Given the description of an element on the screen output the (x, y) to click on. 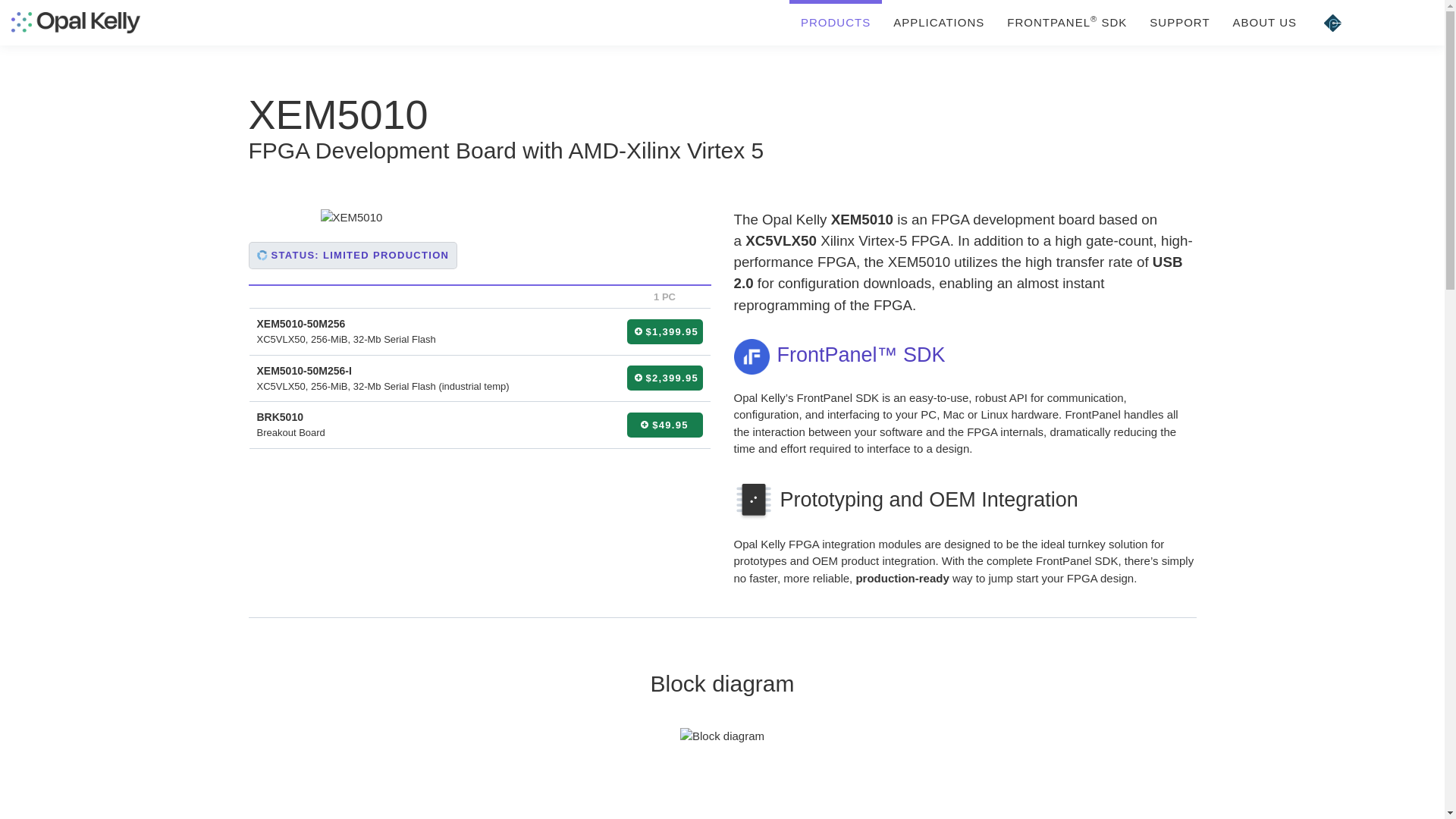
Pins (1331, 22)
SUPPORT (1179, 22)
ABOUT US (1264, 22)
APPLICATIONS (938, 22)
PRODUCTS (835, 22)
